Given the description of an element on the screen output the (x, y) to click on. 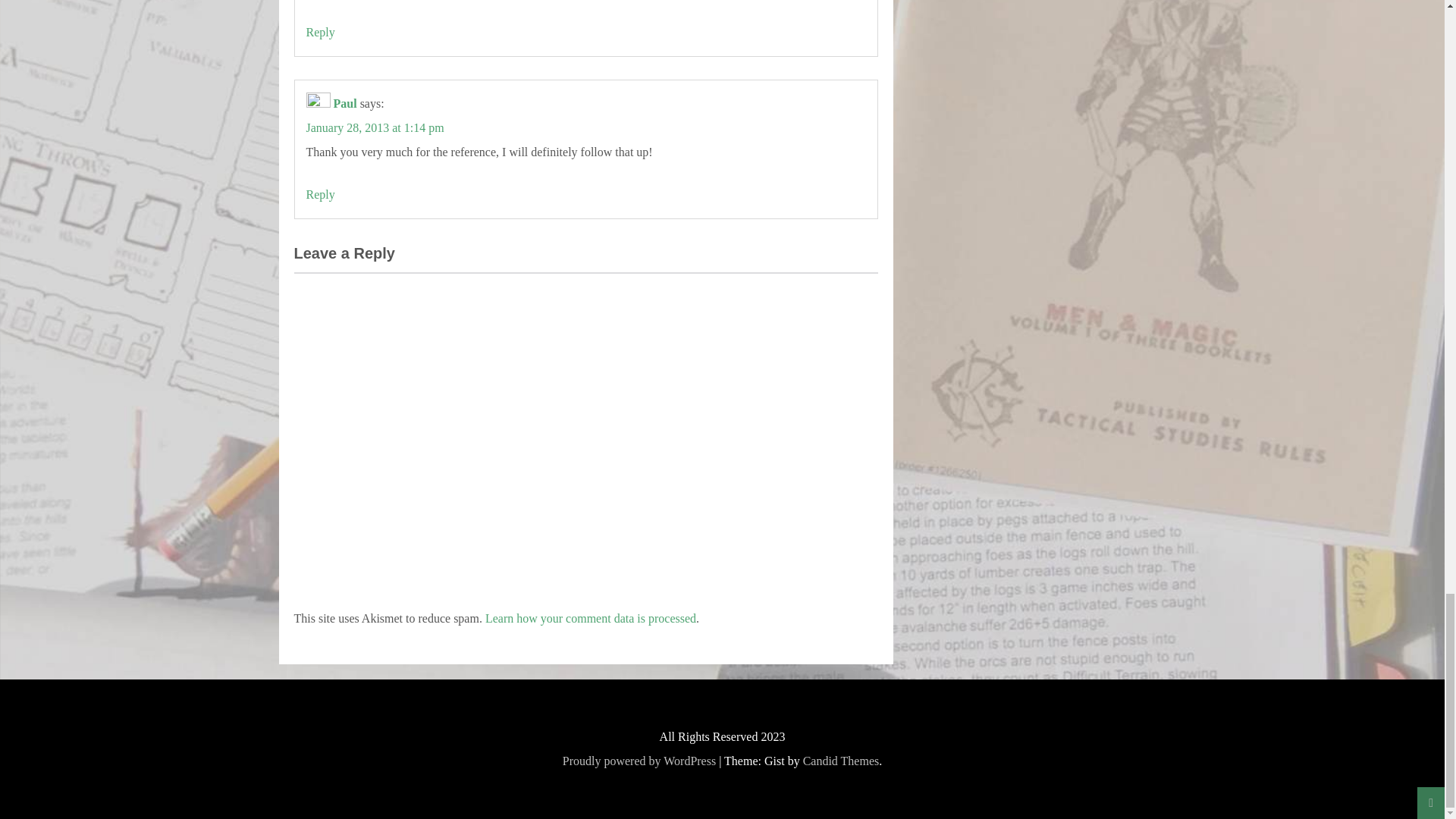
Learn how your comment data is processed (589, 617)
Reply (319, 194)
Reply (319, 31)
Paul (344, 103)
January 28, 2013 at 1:14 pm (374, 127)
